Given the description of an element on the screen output the (x, y) to click on. 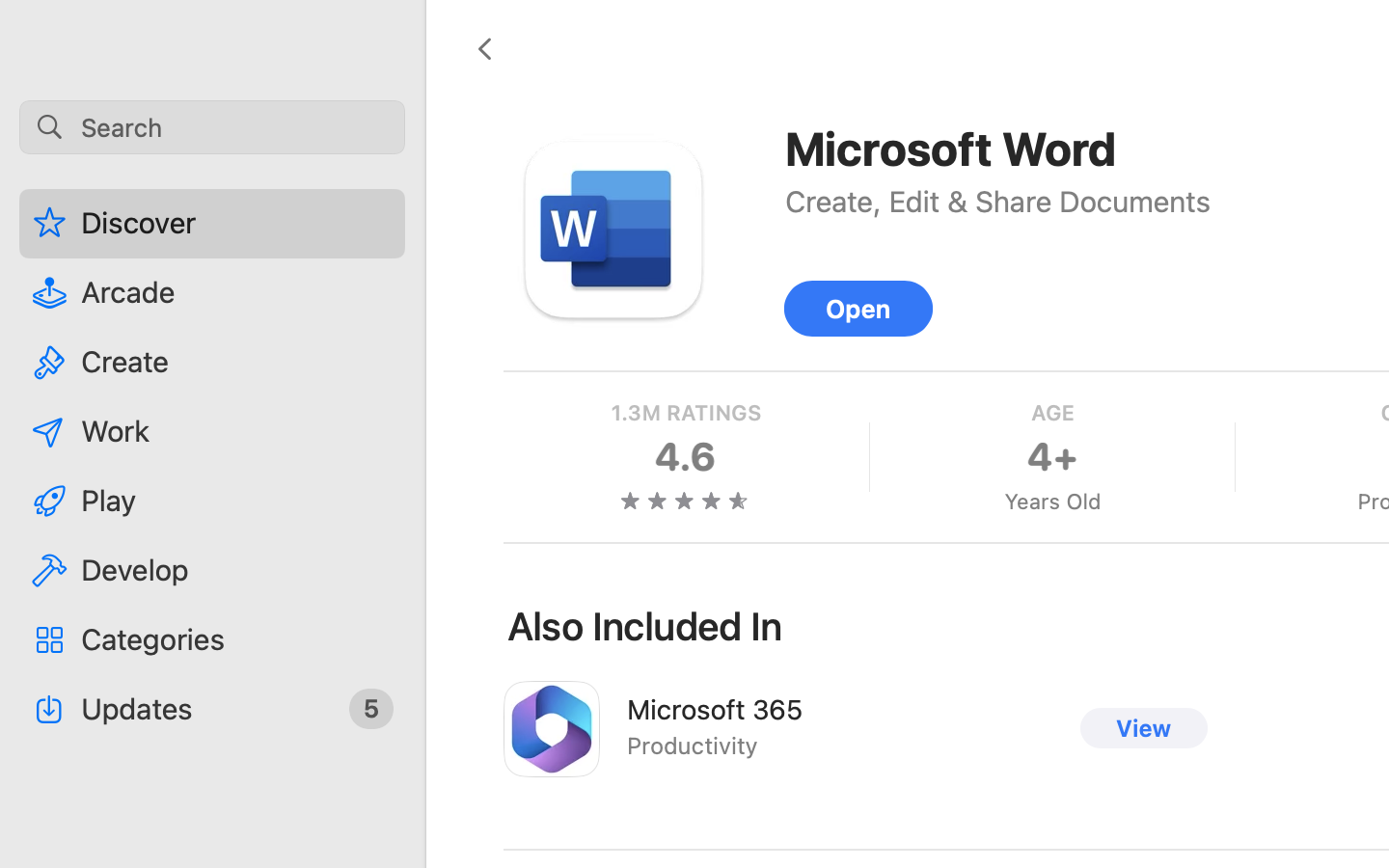
4+ Element type: AXStaticText (1052, 457)
1.3M RATINGS Element type: AXStaticText (685, 412)
four and three quarters stars, 1.3M RATINGS, 4.6 Element type: AXStaticText (685, 456)
AGE Element type: AXStaticText (1052, 412)
Years Old Element type: AXStaticText (1052, 501)
